Given the description of an element on the screen output the (x, y) to click on. 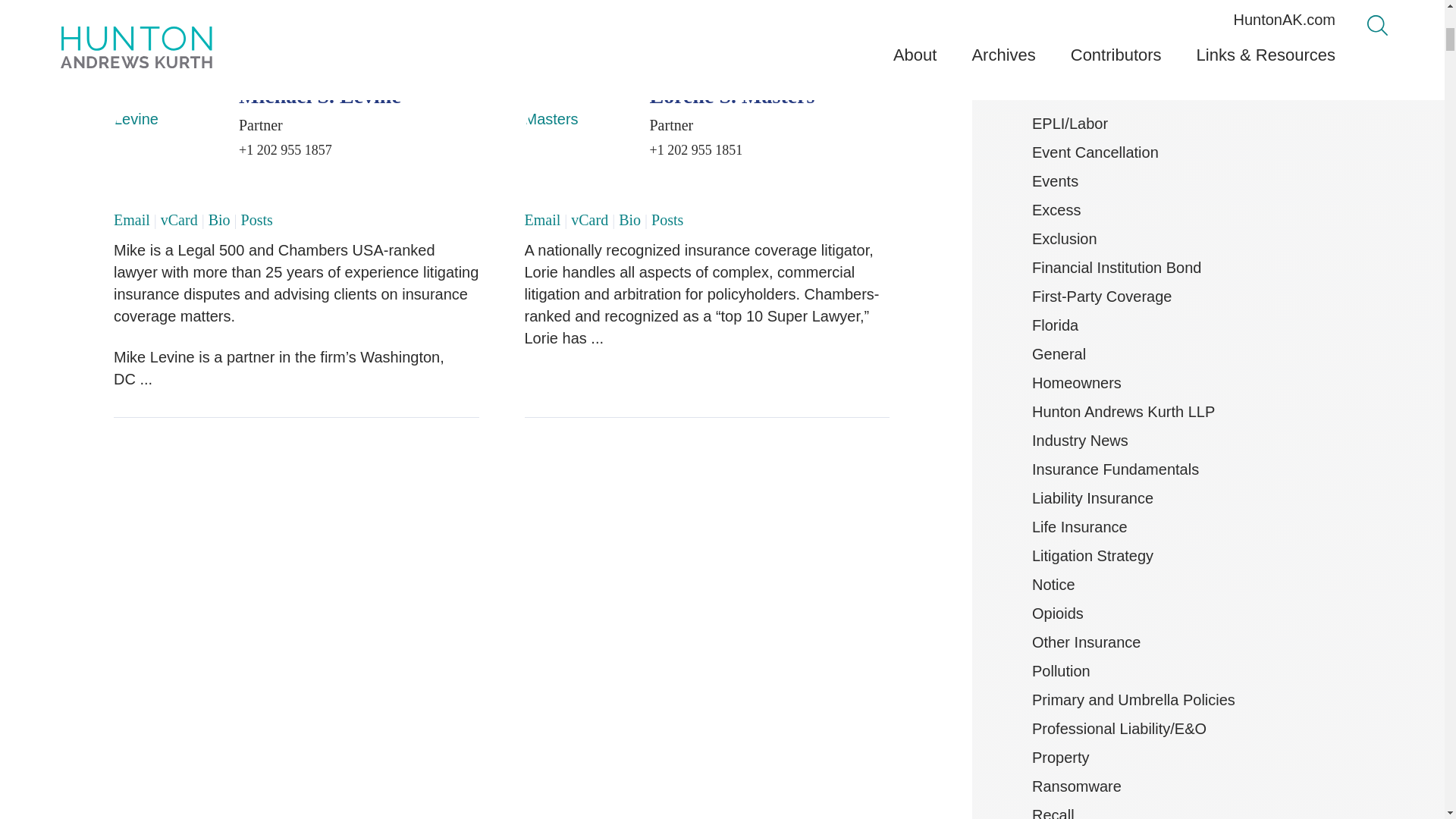
Print (791, 19)
Facebook (882, 20)
Michael S. Levine (319, 95)
Linkedin (866, 19)
Print (788, 20)
Email (131, 219)
Posts (257, 219)
Email (815, 20)
Bio (219, 219)
Linkedin (863, 20)
vCard (179, 219)
Email (818, 19)
